Given the description of an element on the screen output the (x, y) to click on. 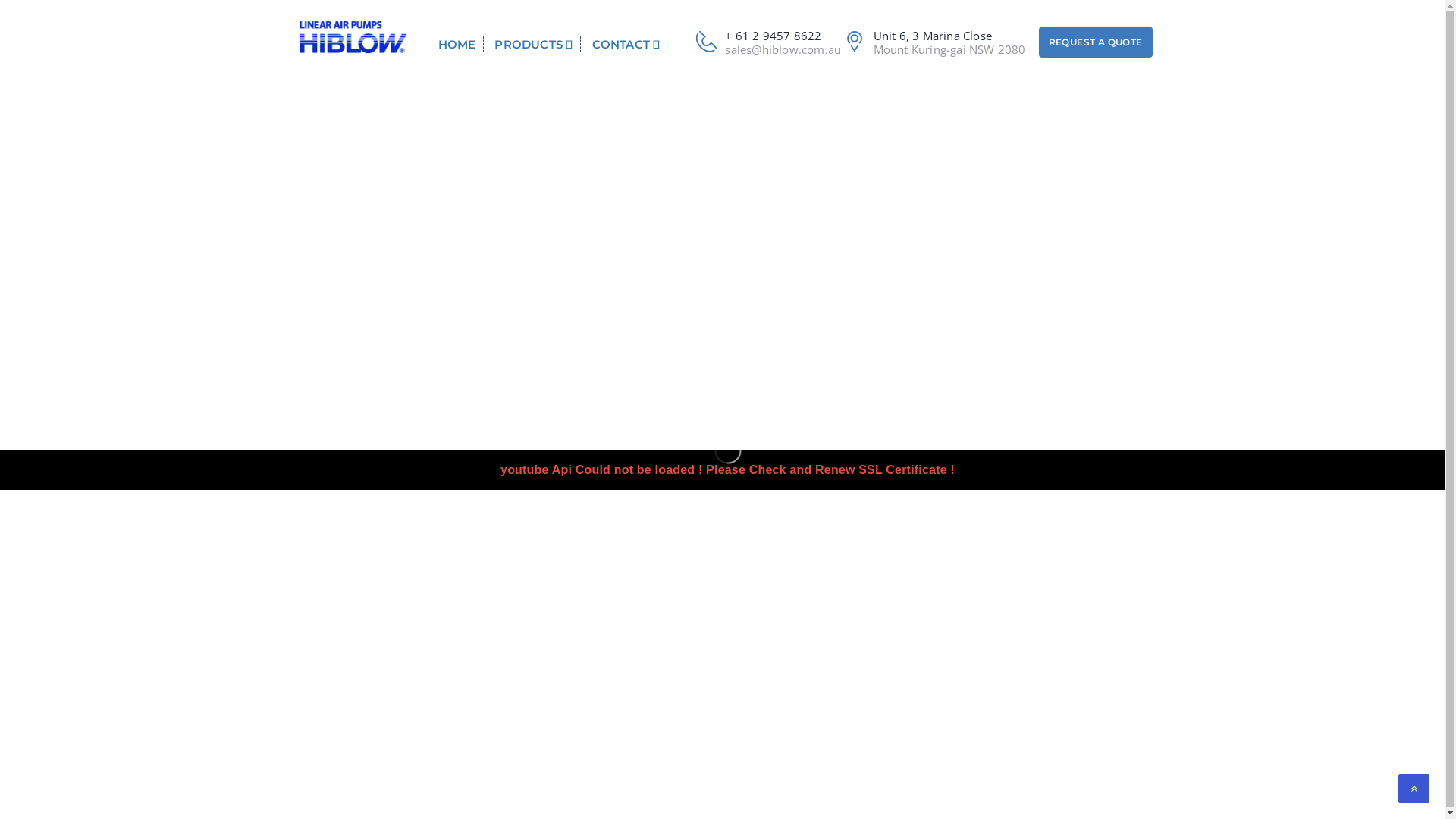
PRODUCTS Element type: text (533, 44)
CONTACT Element type: text (627, 44)
HOME Element type: text (461, 44)
REQUEST A QUOTE Element type: text (1100, 41)
HIBLOW Element type: hover (351, 36)
